Given the description of an element on the screen output the (x, y) to click on. 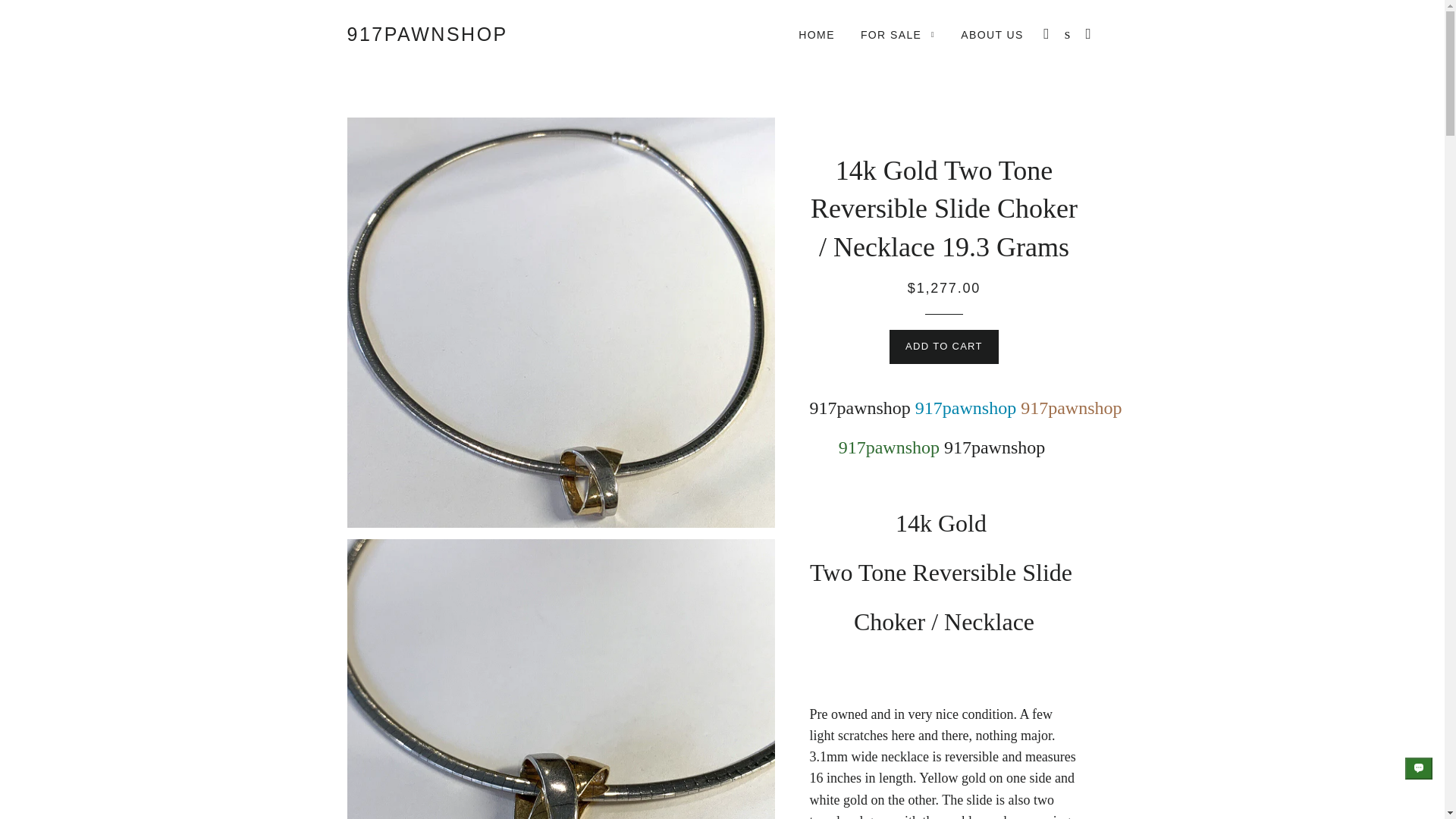
HOME (816, 35)
917PAWNSHOP (427, 34)
FOR SALE (897, 35)
ABOUT US (992, 35)
